Given the description of an element on the screen output the (x, y) to click on. 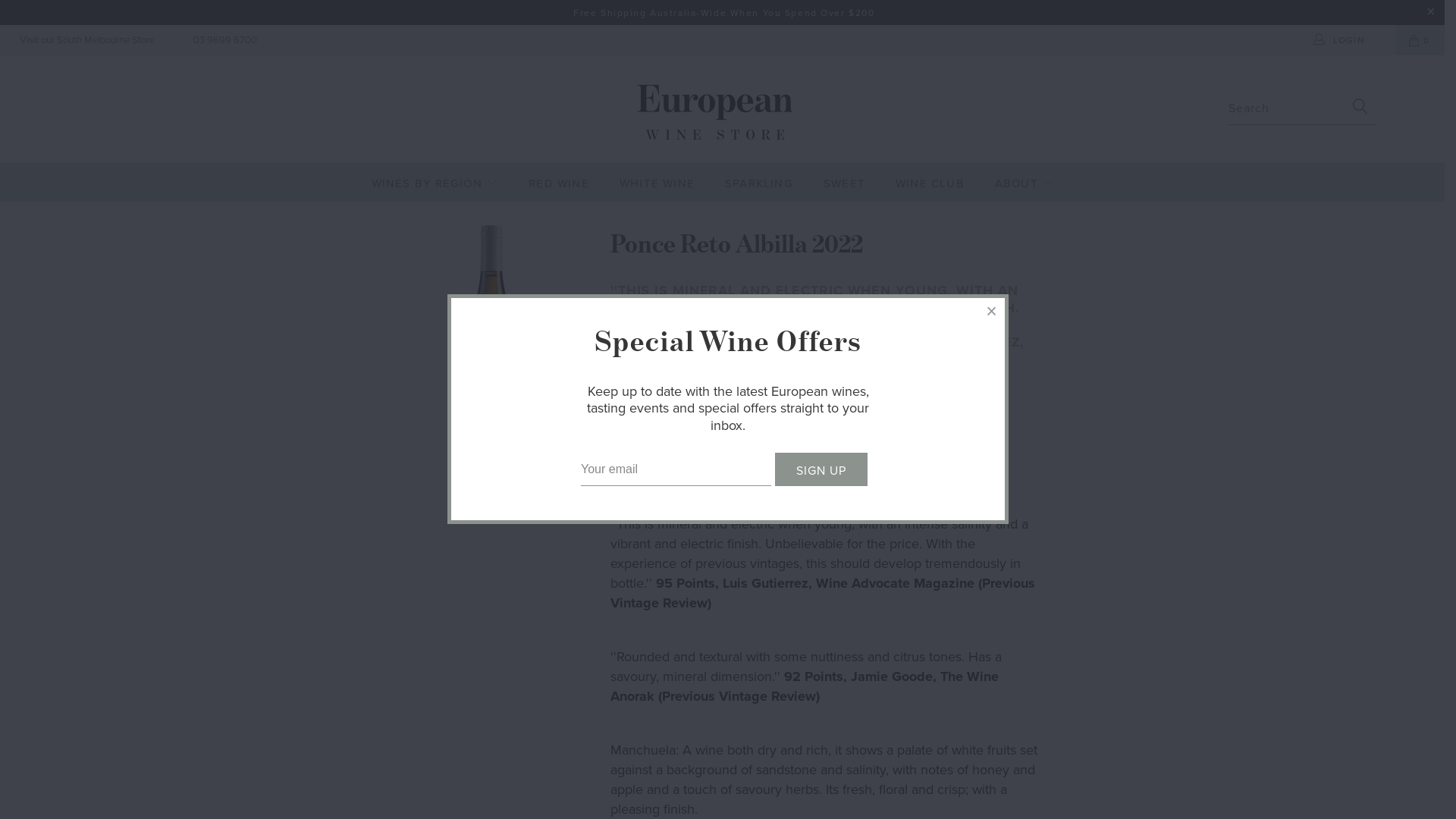
Sign Up Element type: text (821, 469)
RED WINE Element type: text (558, 179)
WINES BY REGION Element type: text (434, 179)
SPARKLING Element type: text (758, 179)
03 9699 6700 Element type: text (222, 40)
European Wine Store Element type: hover (714, 112)
WHITE WINE Element type: text (656, 179)
ADD TO CART Element type: text (837, 466)
WINE CLUB Element type: text (929, 179)
SWEET Element type: text (844, 179)
0 Element type: text (1419, 40)
LOGIN Element type: text (1339, 40)
ABOUT Element type: text (1024, 179)
Visit our South Melbourne Store Element type: text (84, 40)
